Given the description of an element on the screen output the (x, y) to click on. 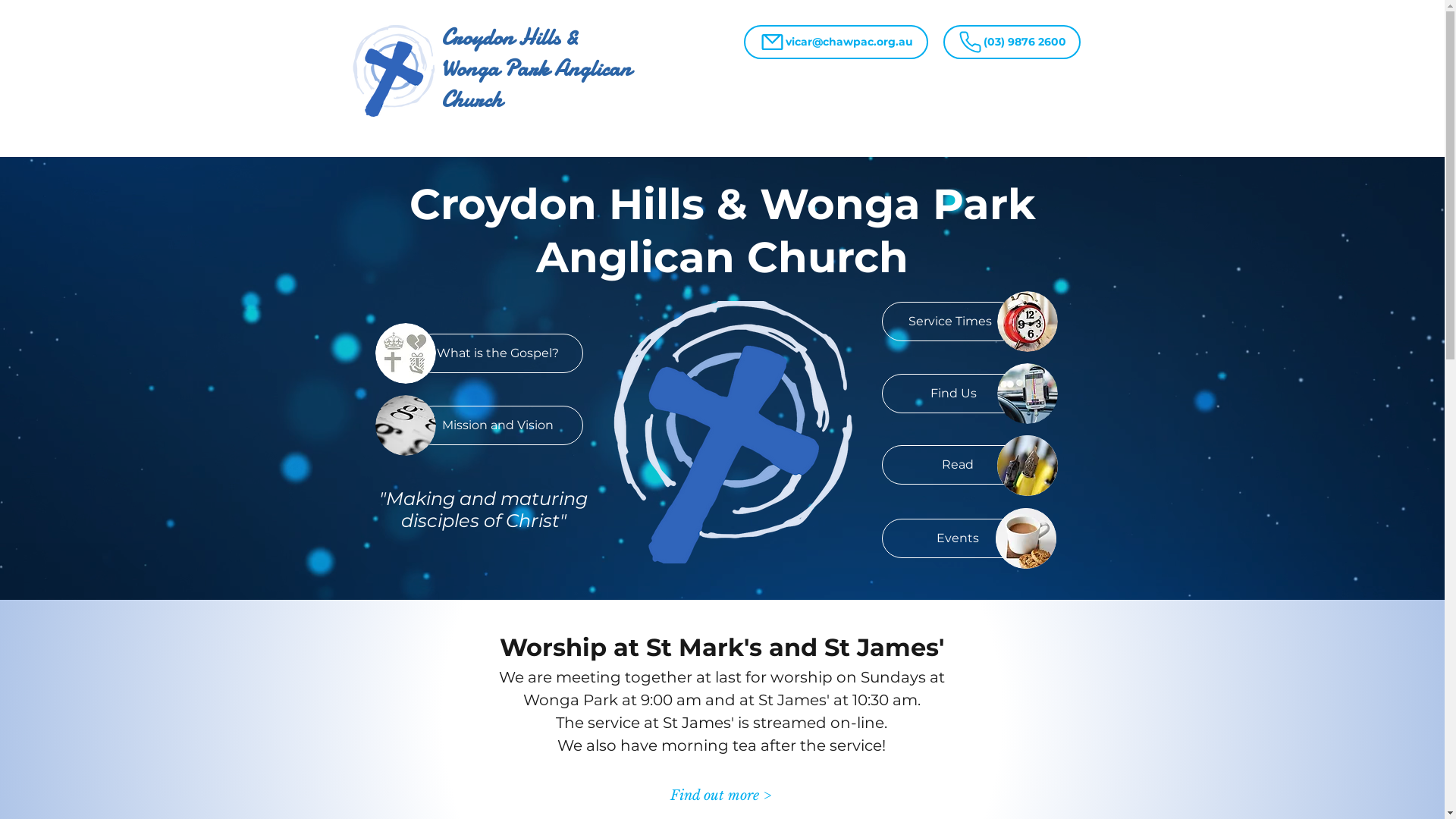
Mission and Vision Element type: text (497, 425)
vicar@chawpac.org.au Element type: text (835, 42)
Croydon Hills & Wonga Park Anglican Church Element type: text (535, 67)
Read Element type: text (957, 464)
Service Times Element type: text (949, 321)
What is the Gospel? Element type: text (497, 353)
Contact Us Element type: text (1047, 167)
(03) 9876 2600 Element type: text (1011, 42)
Find out more > Element type: text (720, 795)
Find Us Element type: text (952, 393)
Events Element type: text (957, 538)
